Given the description of an element on the screen output the (x, y) to click on. 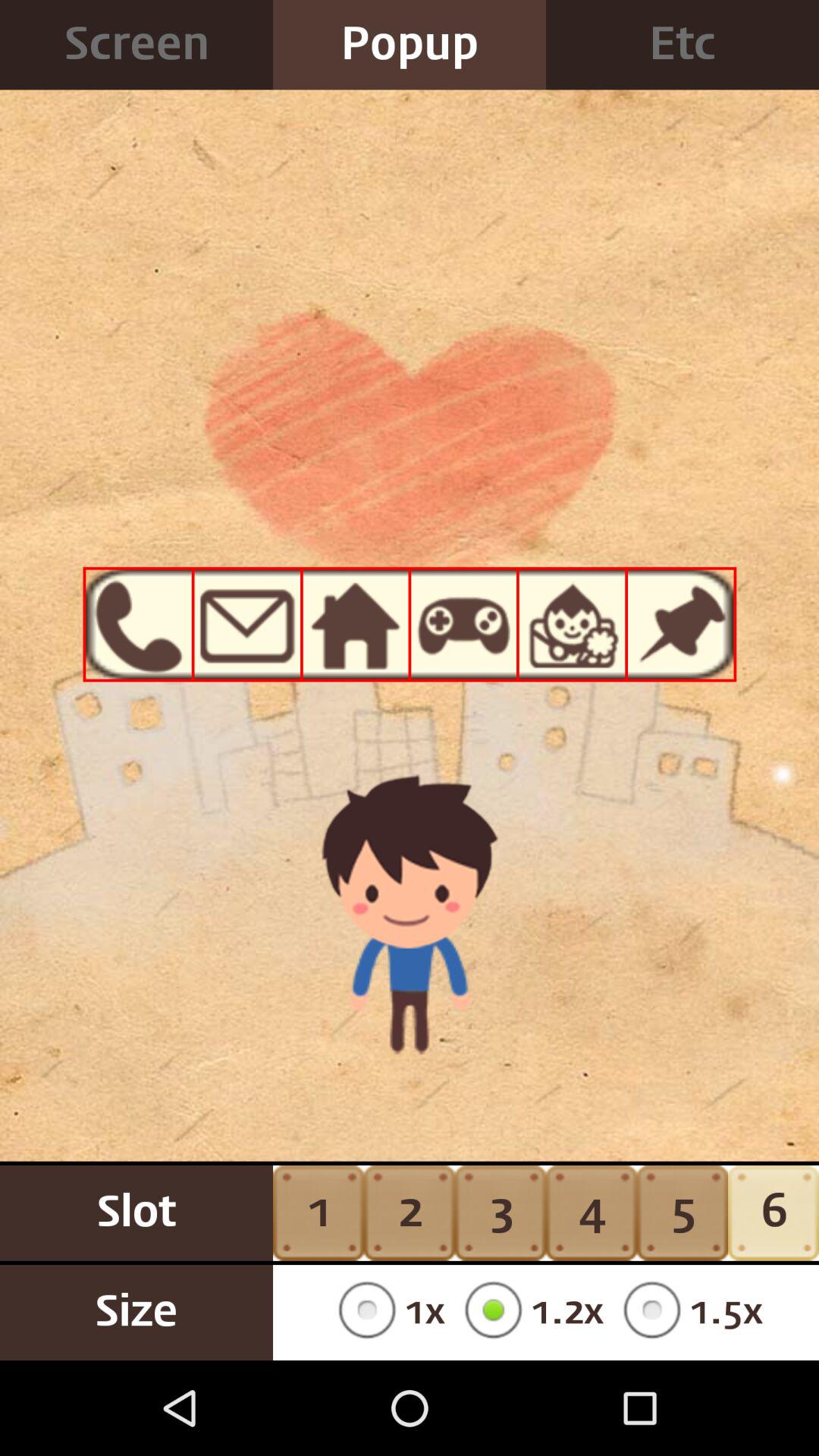
jump until etc icon (682, 44)
